Given the description of an element on the screen output the (x, y) to click on. 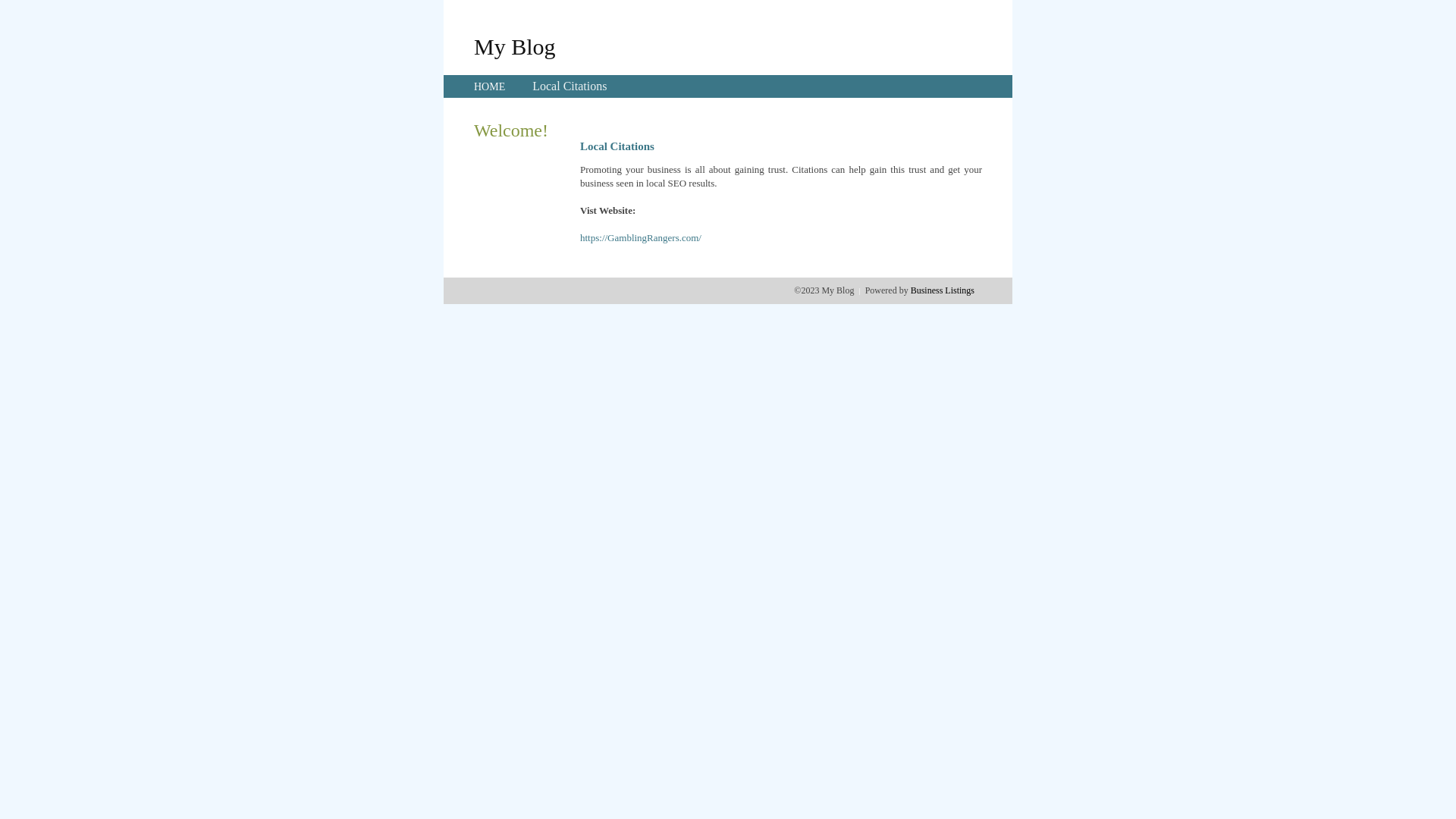
Business Listings Element type: text (942, 290)
Local Citations Element type: text (569, 85)
https://GamblingRangers.com/ Element type: text (640, 237)
My Blog Element type: text (514, 46)
HOME Element type: text (489, 86)
